Given the description of an element on the screen output the (x, y) to click on. 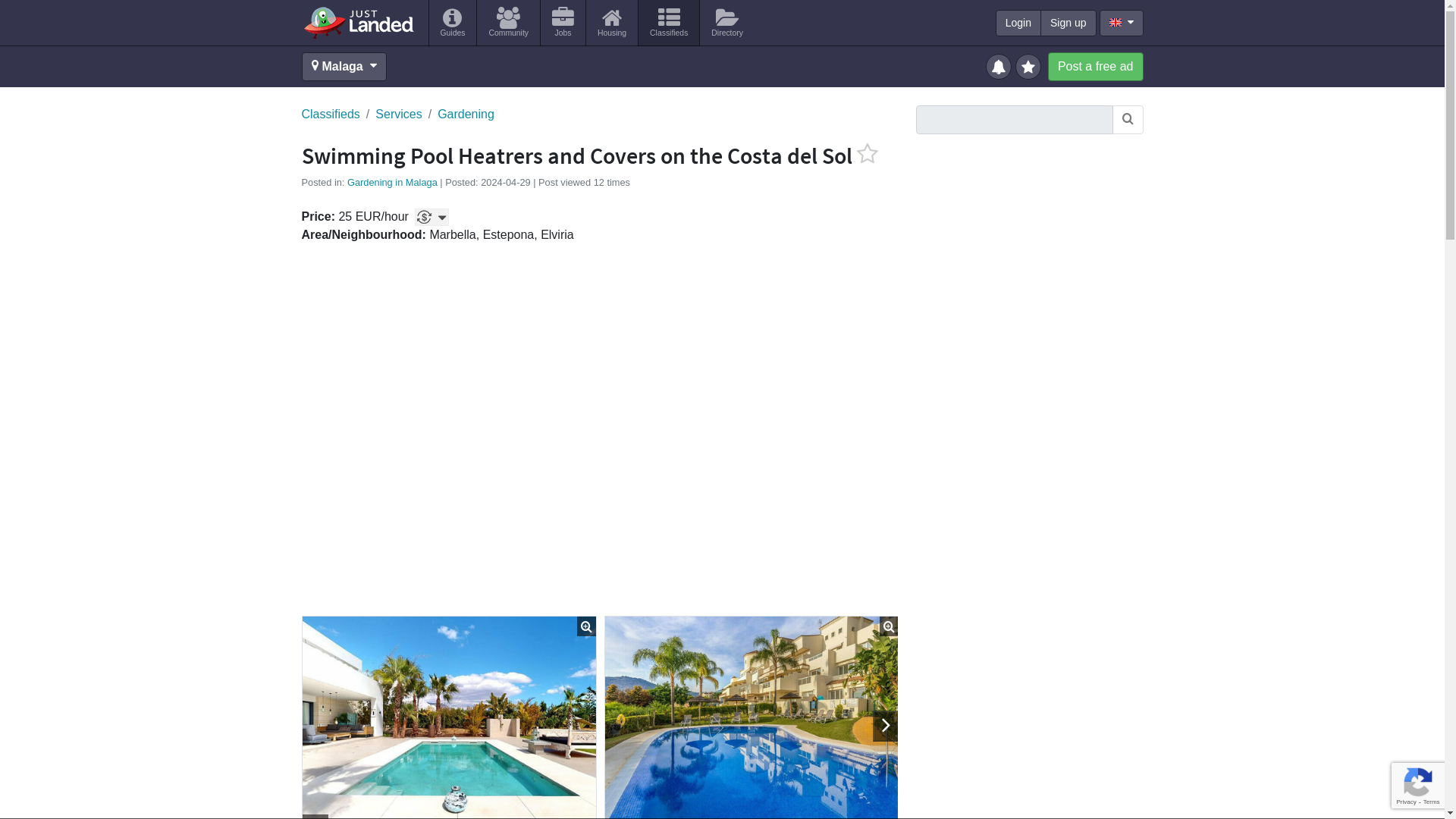
Jobs in Malaga (562, 22)
Sign up (1068, 22)
Housing in Malaga (611, 22)
Community (508, 22)
Guides (453, 22)
Classifieds in Malaga (668, 22)
Classifieds (668, 22)
Community in Malaga (508, 22)
Guides (453, 22)
Favourites (1029, 65)
